Given the description of an element on the screen output the (x, y) to click on. 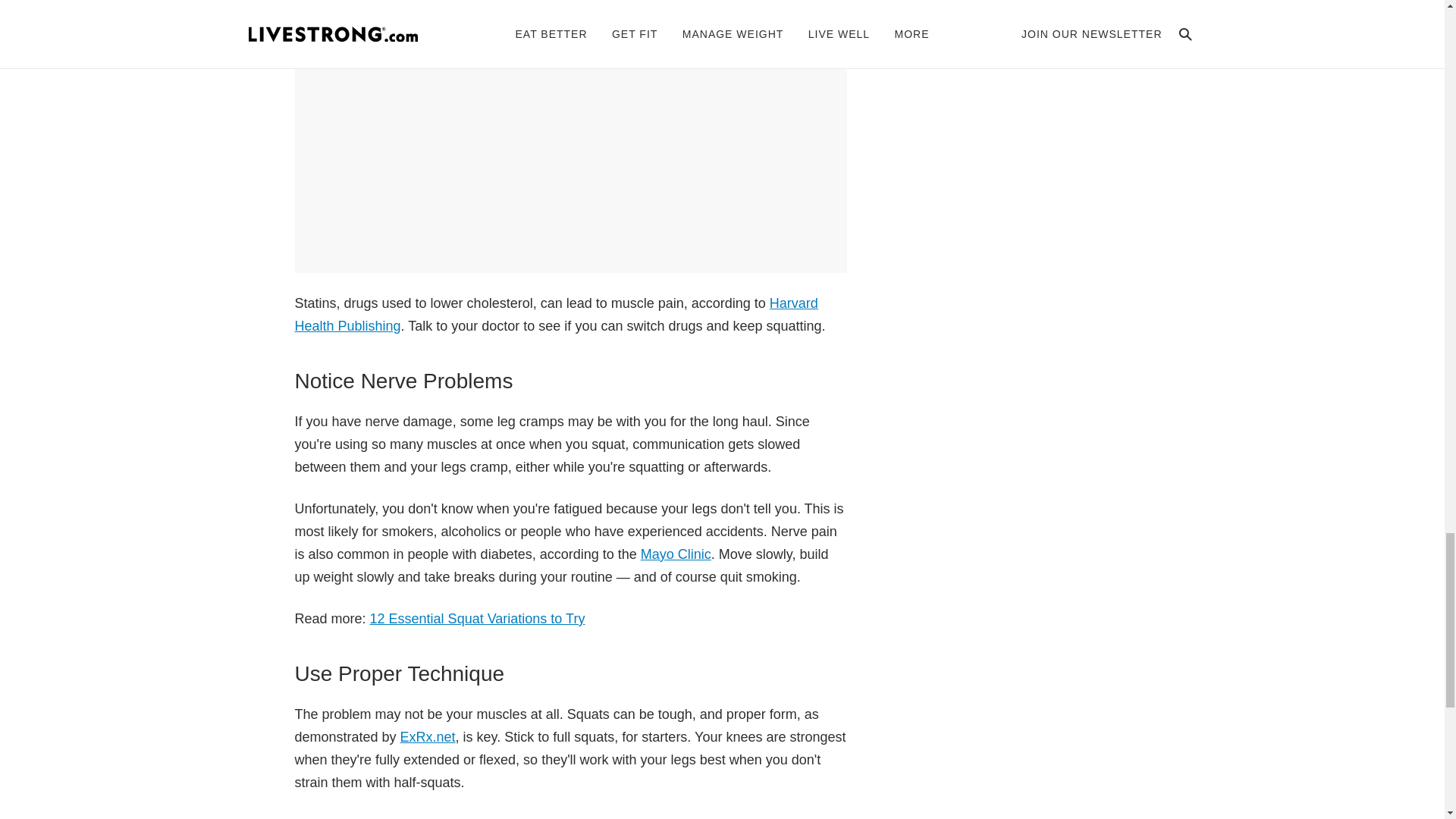
Harvard Health Publishing (555, 314)
Mayo Clinic (675, 554)
ExRx.net (427, 736)
12 Essential Squat Variations to Try (477, 618)
